Given the description of an element on the screen output the (x, y) to click on. 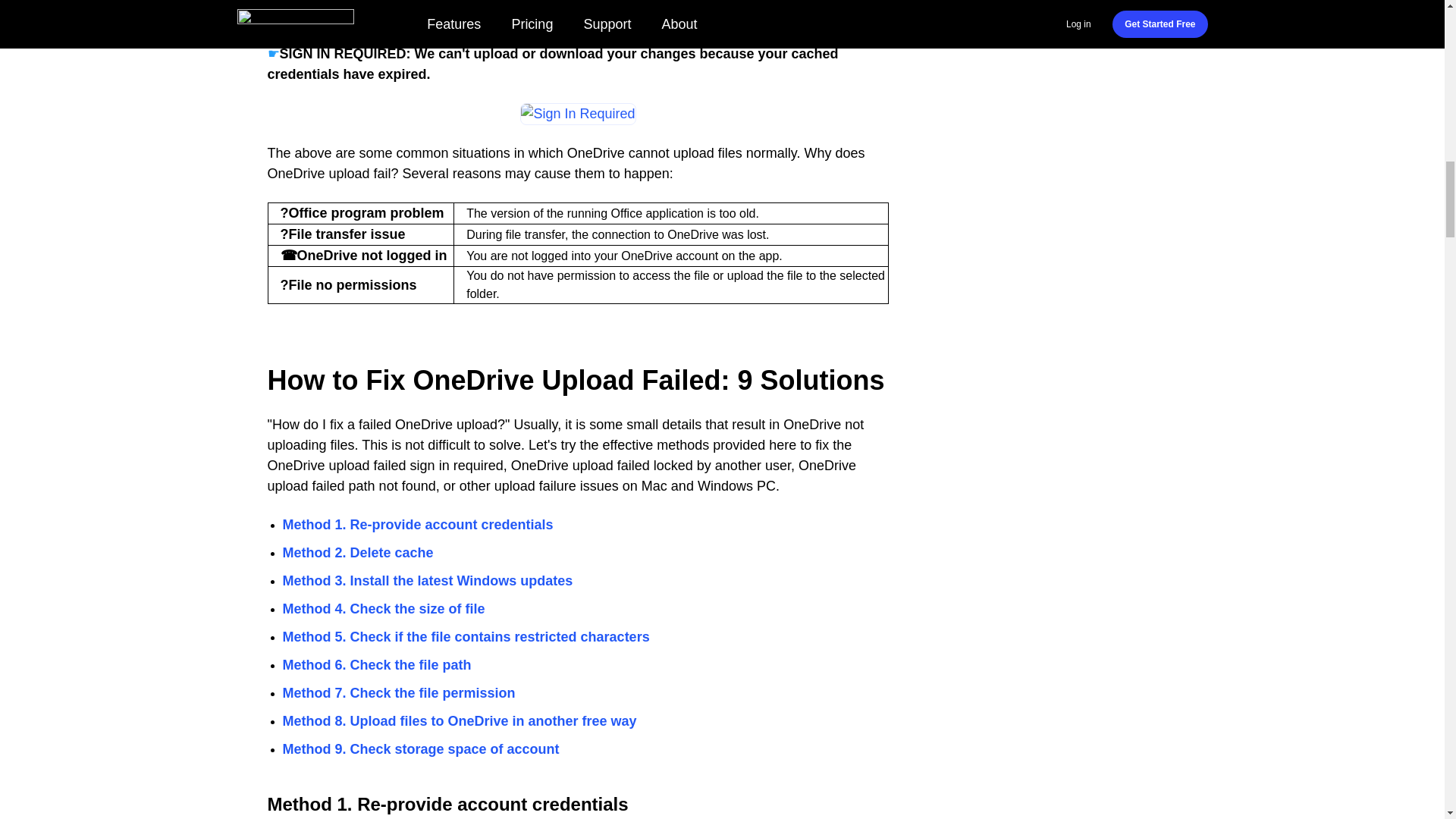
Sign In Required (576, 114)
There is a problem with this websites security certificate (577, 14)
